Given the description of an element on the screen output the (x, y) to click on. 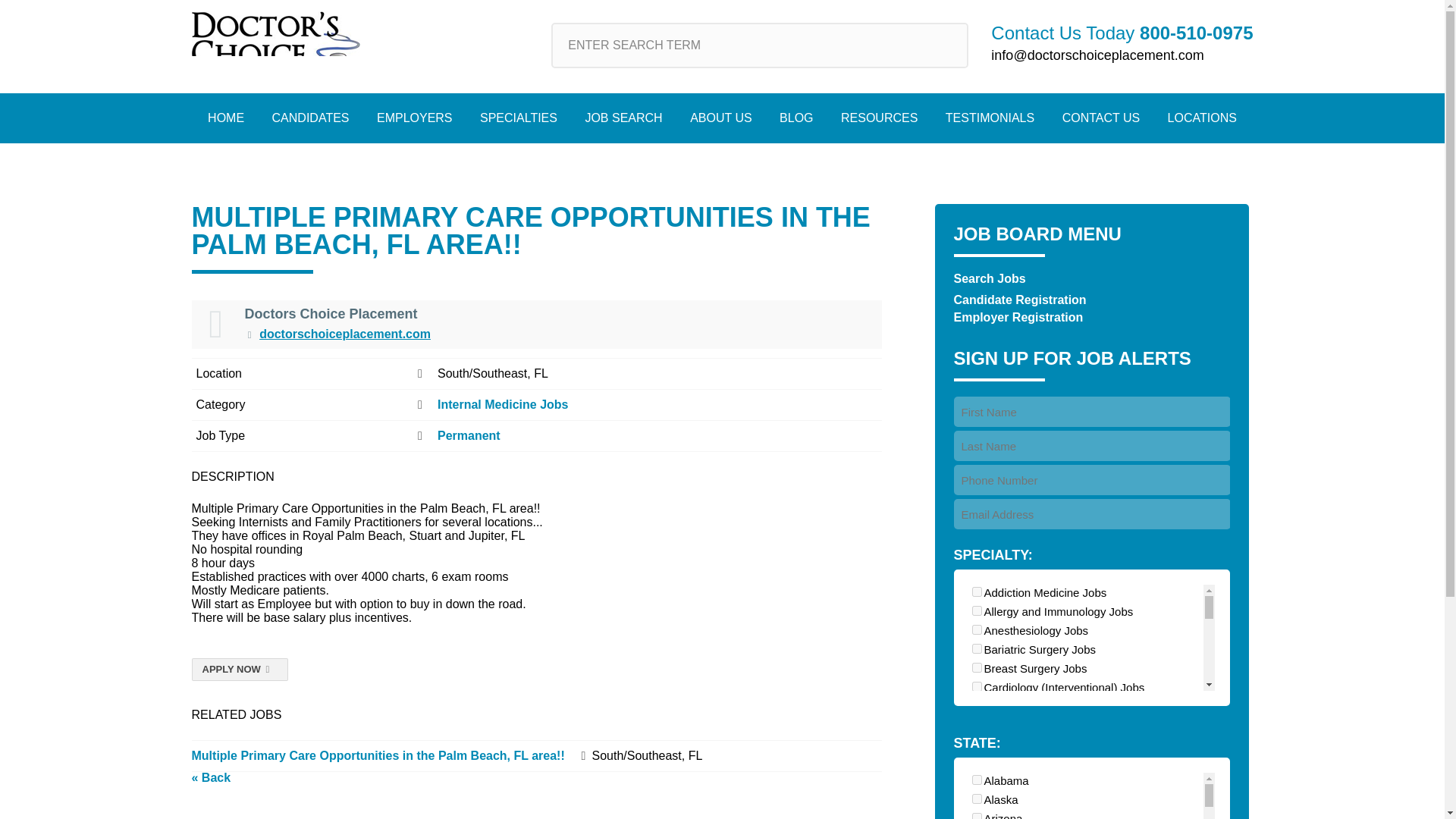
70 (976, 610)
79 (976, 762)
CANDIDATES (310, 118)
Enter Search Term (759, 44)
29 (976, 667)
EMPLOYERS (414, 118)
800-510-0975 (1196, 32)
72 (976, 724)
21 (976, 648)
65 (976, 816)
